Given the description of an element on the screen output the (x, y) to click on. 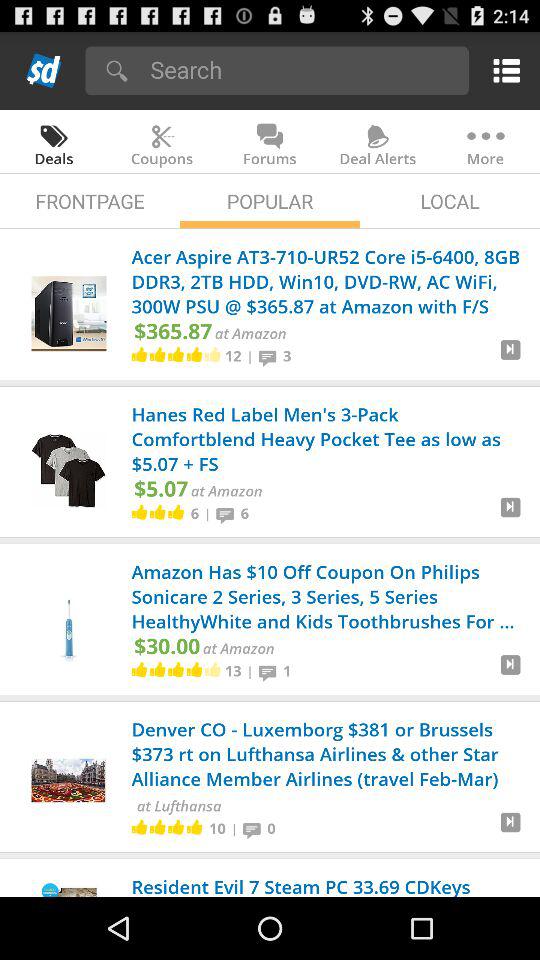
select button (510, 357)
